Given the description of an element on the screen output the (x, y) to click on. 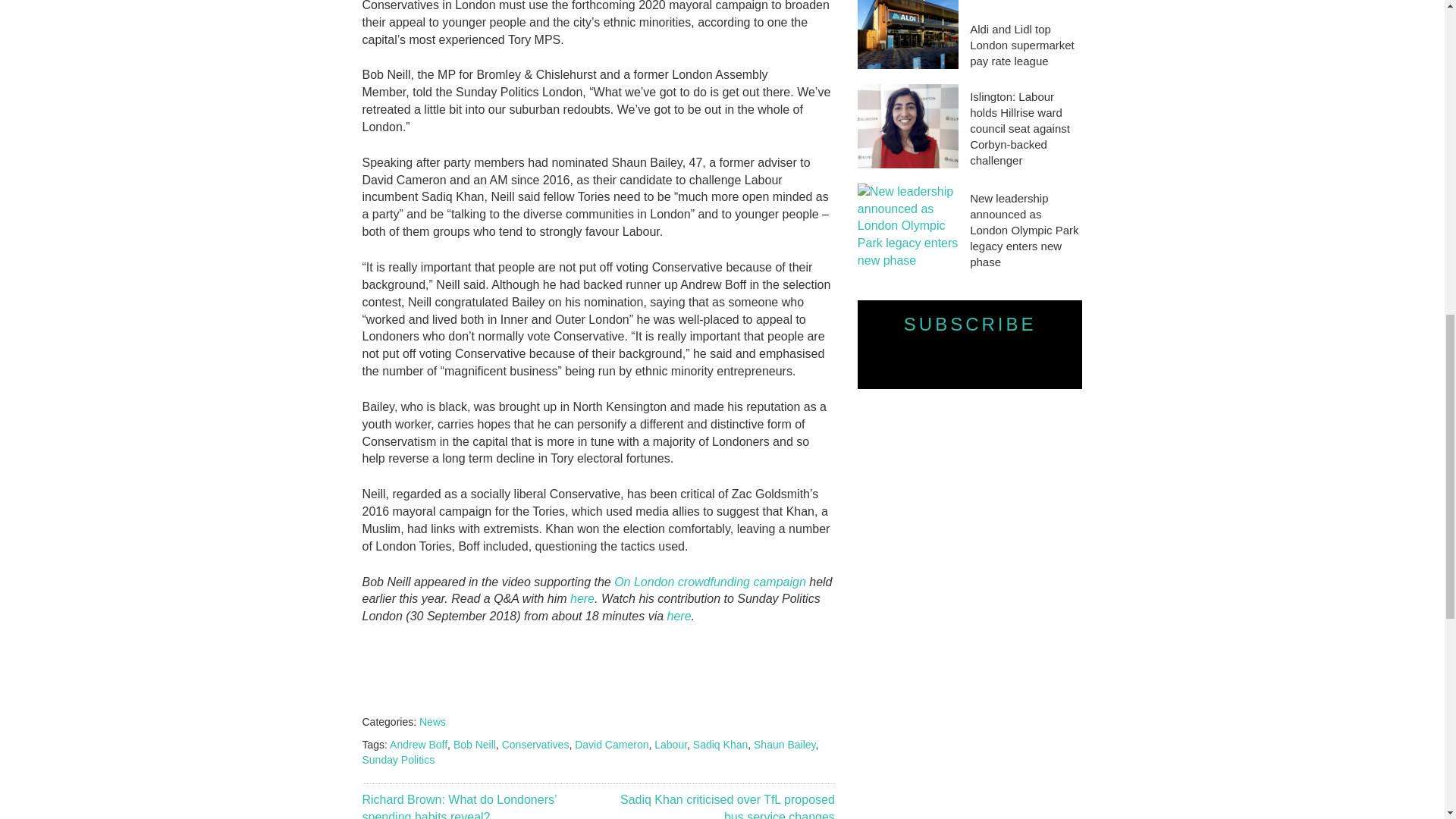
On London crowdfunding campaign (710, 581)
Aldi and Lidl top London supermarket pay rate league (907, 34)
Aldi and Lidl top London supermarket pay rate league (1025, 44)
here (582, 598)
